Given the description of an element on the screen output the (x, y) to click on. 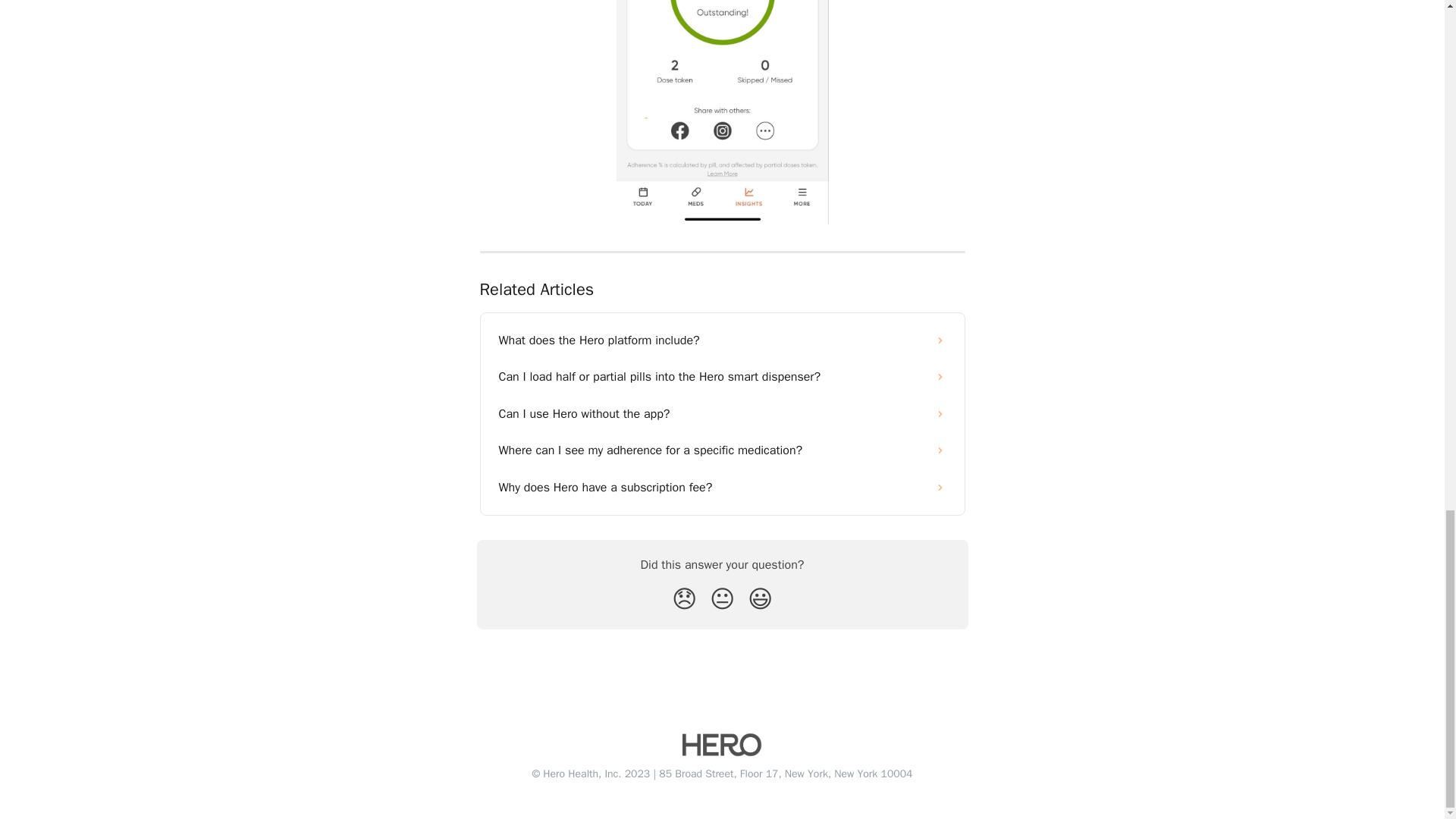
Can I use Hero without the app? (722, 413)
Why does Hero have a subscription fee? (722, 487)
Where can I see my adherence for a specific medication? (722, 450)
What does the Hero platform include? (722, 340)
